Given the description of an element on the screen output the (x, y) to click on. 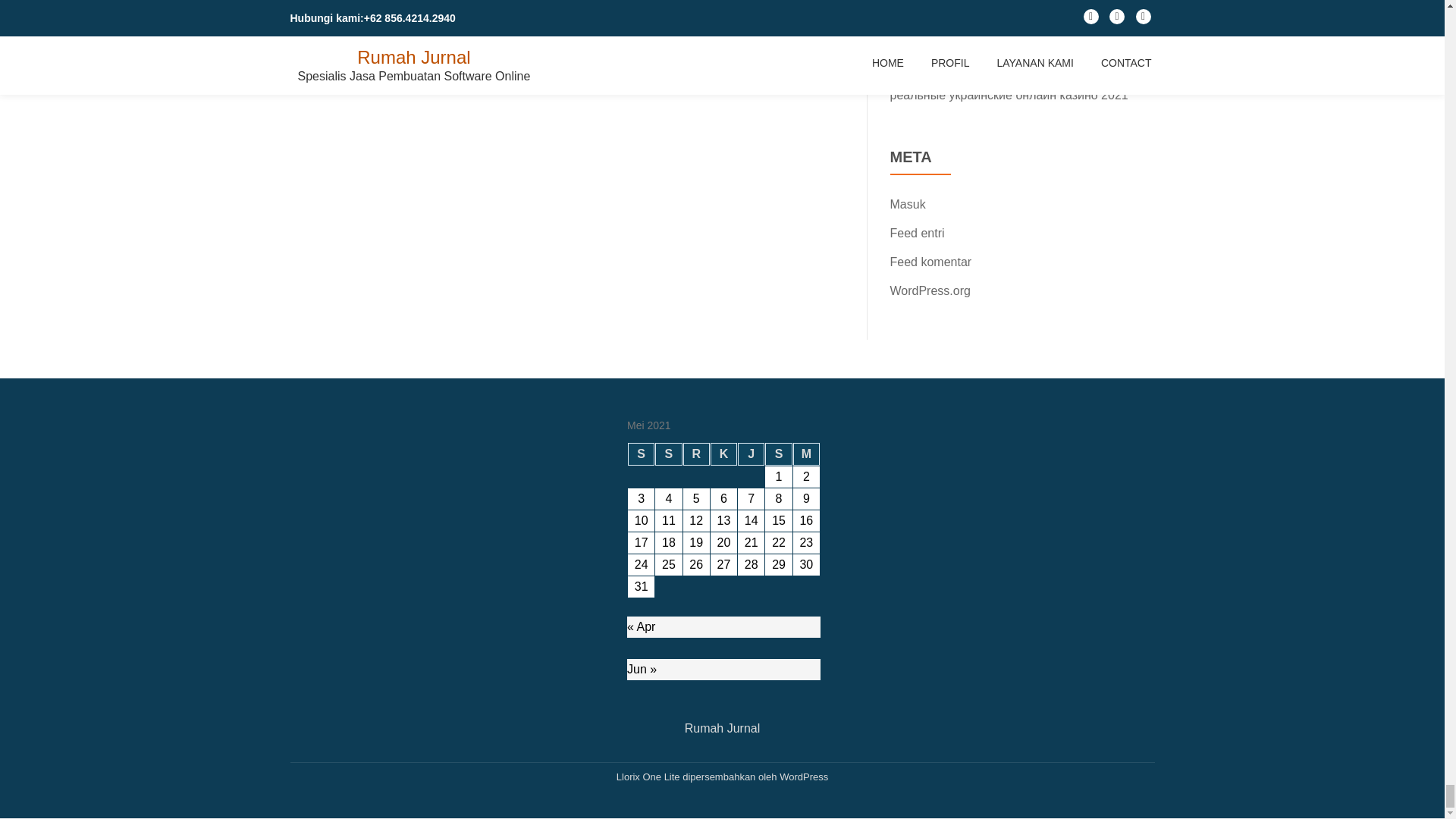
Jumat (751, 454)
Sabtu (778, 454)
Minggu (806, 454)
Selasa (668, 454)
Rabu (696, 454)
Kamis (723, 454)
Senin (640, 454)
